Given the description of an element on the screen output the (x, y) to click on. 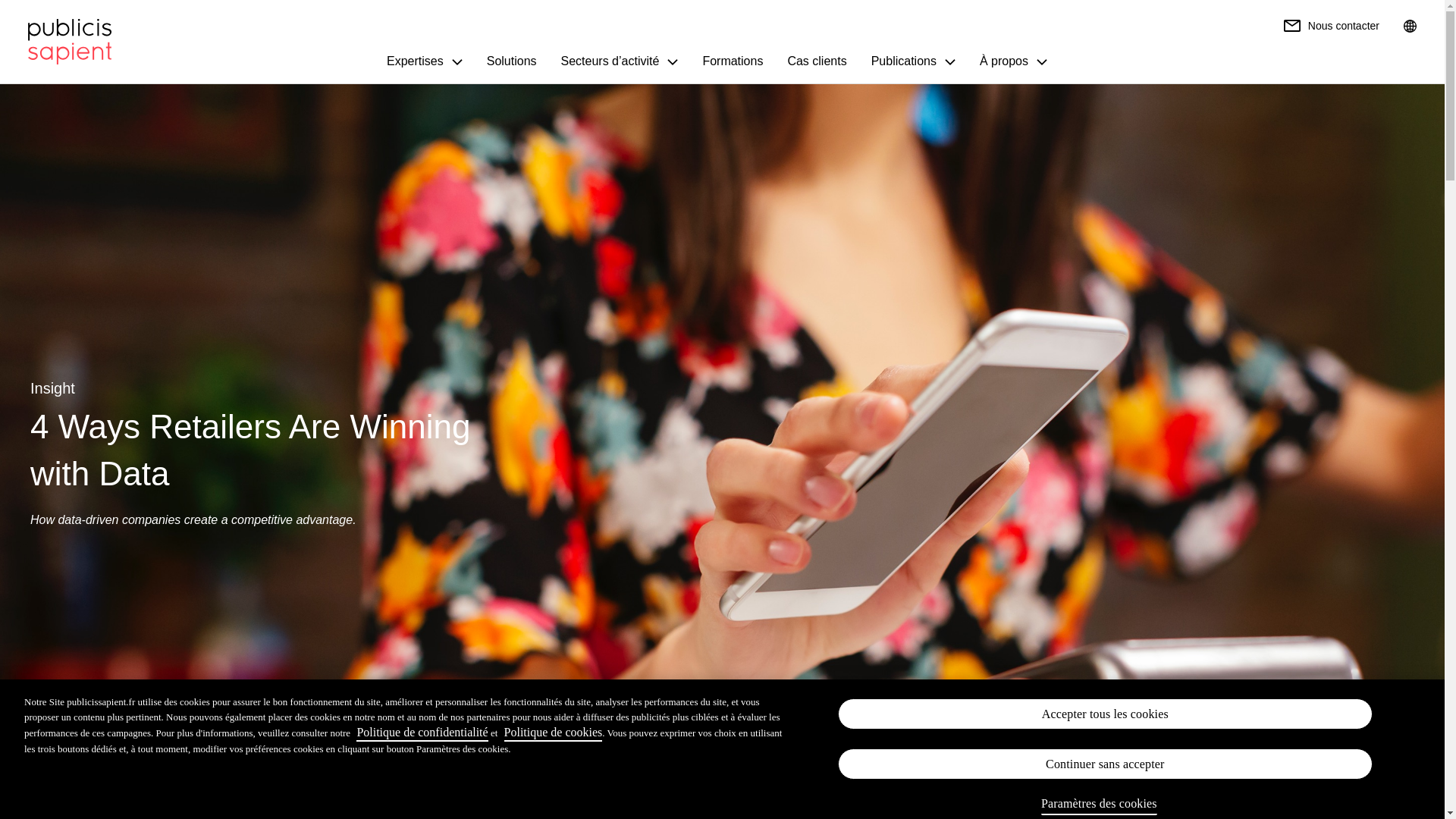
Cas clients (815, 61)
Solutions (511, 61)
Publications (912, 61)
go to homepage (69, 41)
Nous contacter (1331, 25)
Expertises (424, 61)
Formations (732, 61)
